Given the description of an element on the screen output the (x, y) to click on. 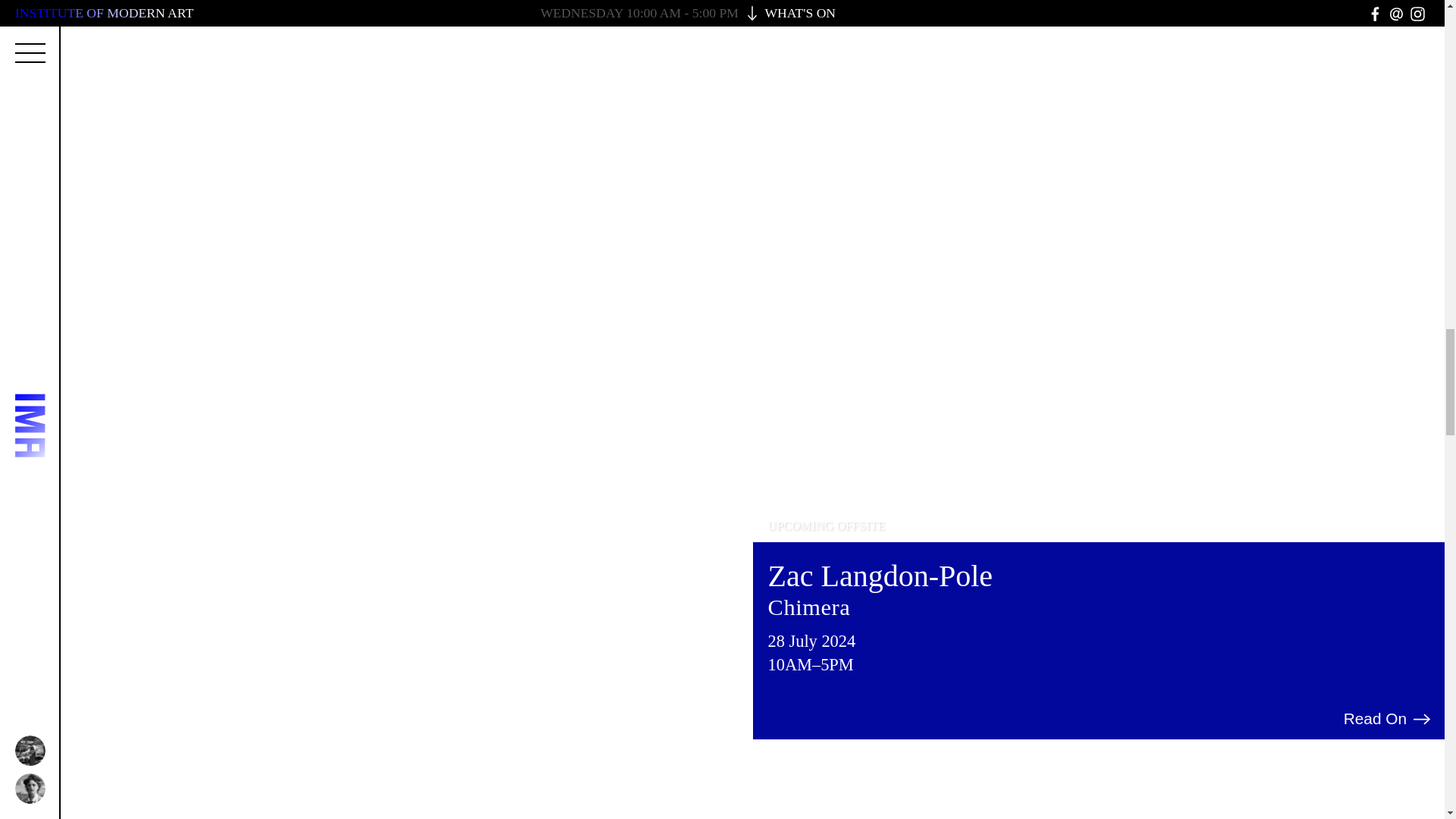
Zac Langdon-Pole (879, 575)
Read On (1387, 719)
